Given the description of an element on the screen output the (x, y) to click on. 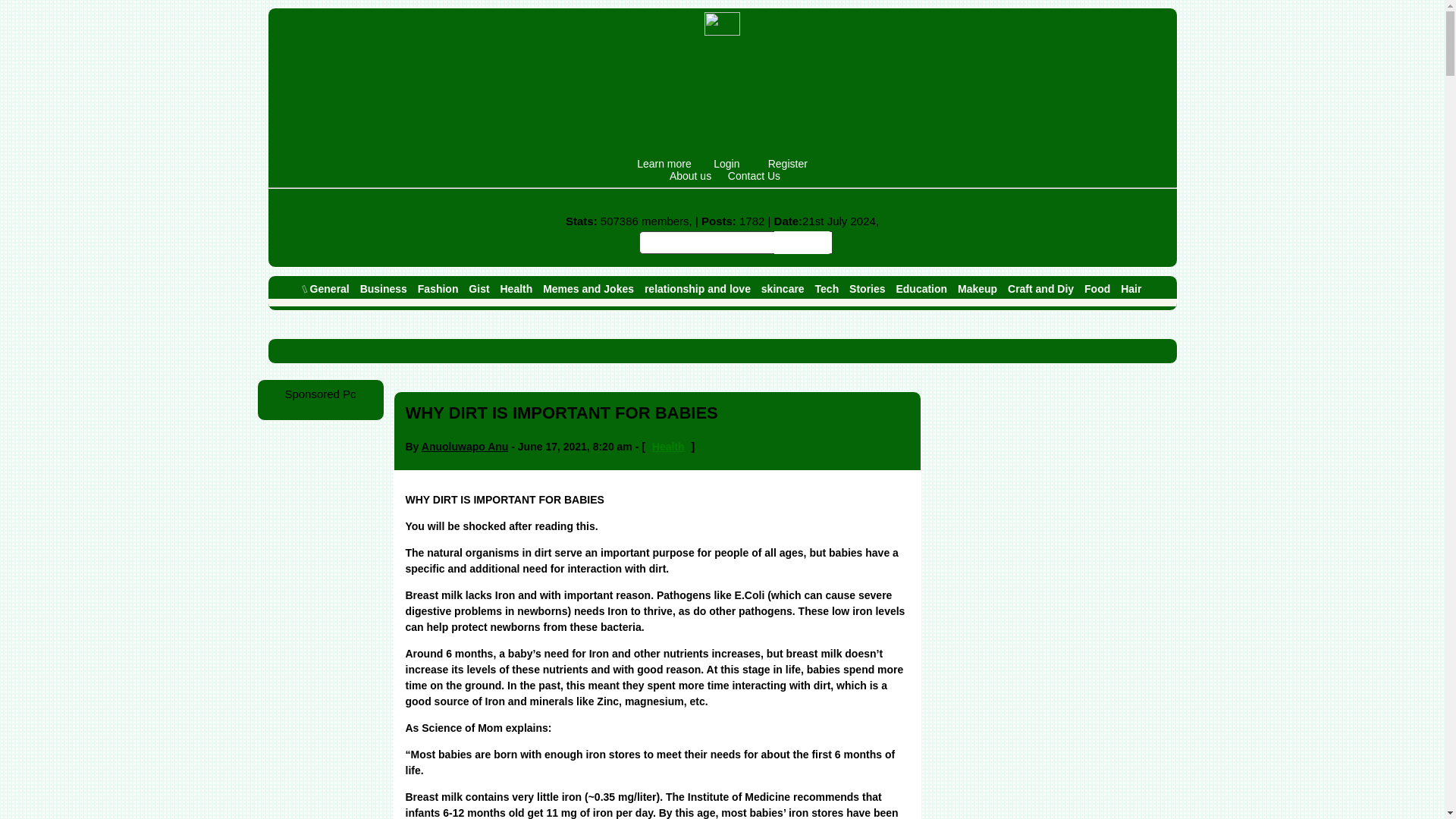
Hair (1130, 289)
Anuoluwapo Anu (465, 446)
Search (802, 241)
Stories (866, 289)
skincare (782, 289)
Craft and Diy (1040, 289)
Tech (826, 289)
Education (920, 289)
Memes and Jokes (587, 289)
Business (383, 289)
Learn more (664, 163)
General (326, 289)
Health (667, 446)
  Register   (787, 163)
Health (515, 289)
